Given the description of an element on the screen output the (x, y) to click on. 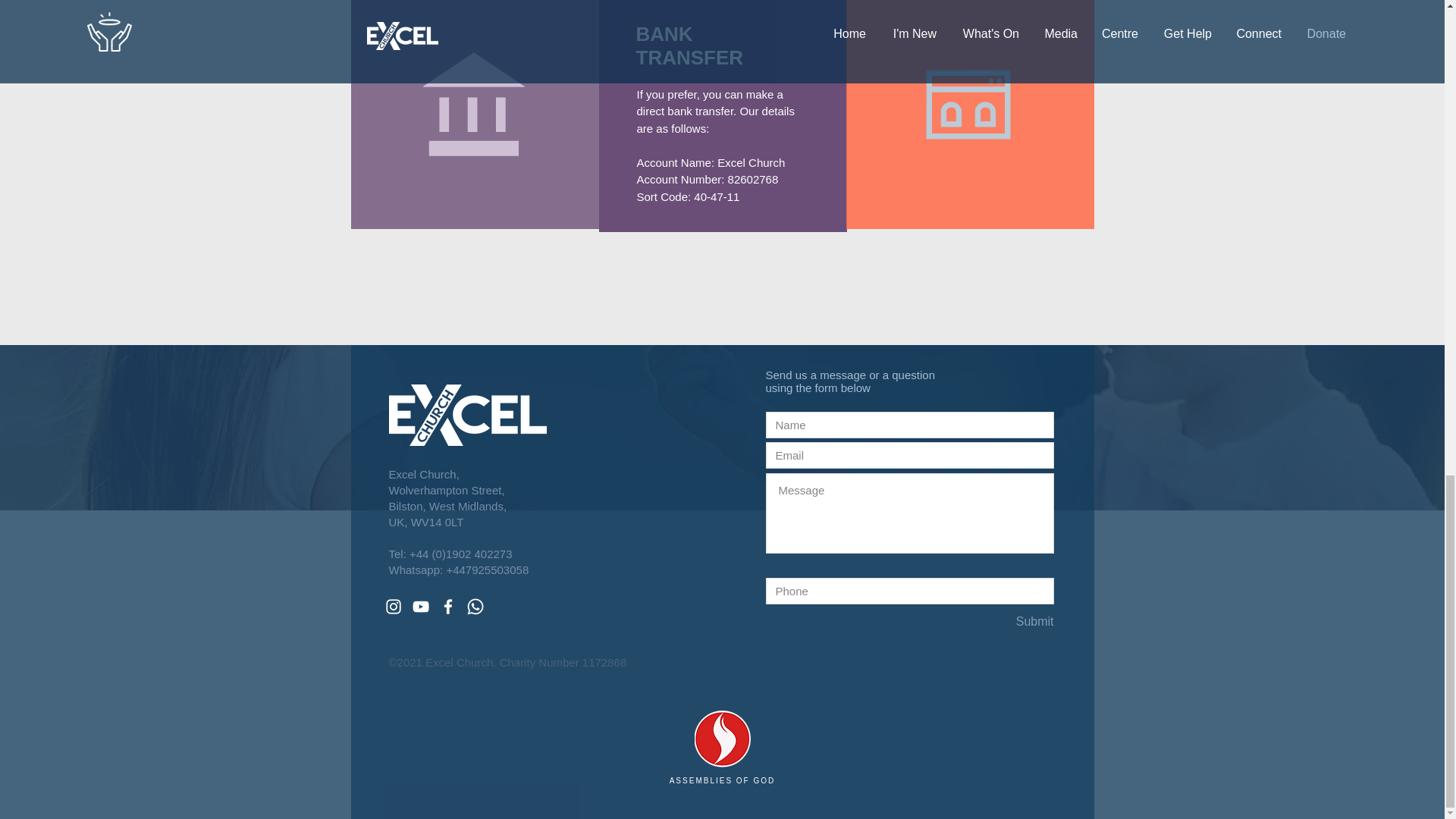
ExcelChurchWhiteCompletelyTransp.png (467, 414)
